Given the description of an element on the screen output the (x, y) to click on. 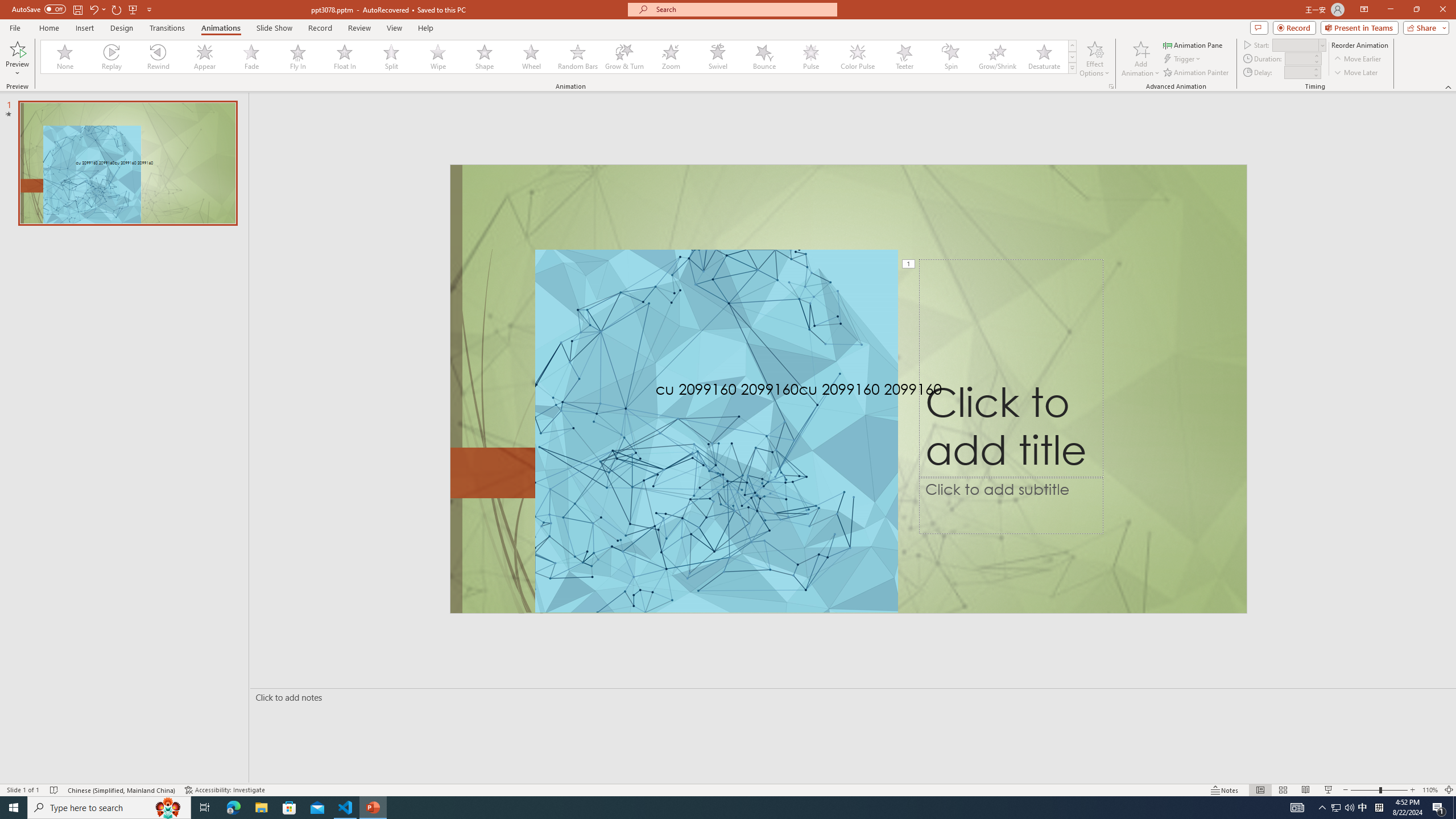
Animation Styles (1071, 67)
Animation Delay (1297, 72)
Desaturate (1043, 56)
More Options... (1110, 85)
